Given the description of an element on the screen output the (x, y) to click on. 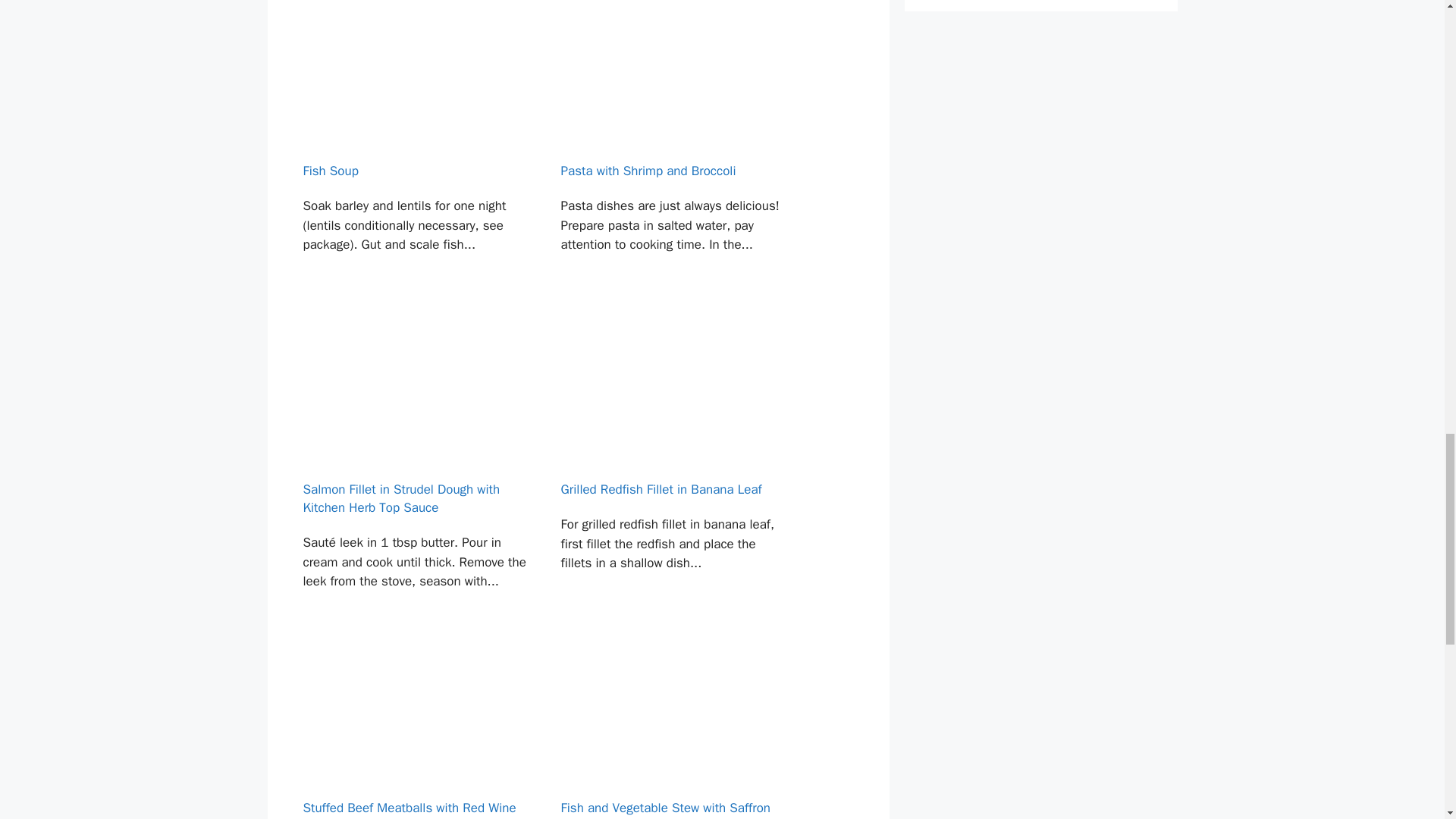
Stuffed Beef Meatballs with Red Wine and Onion Confit (414, 725)
Fish and Vegetable Stew with Saffron (673, 725)
